Given the description of an element on the screen output the (x, y) to click on. 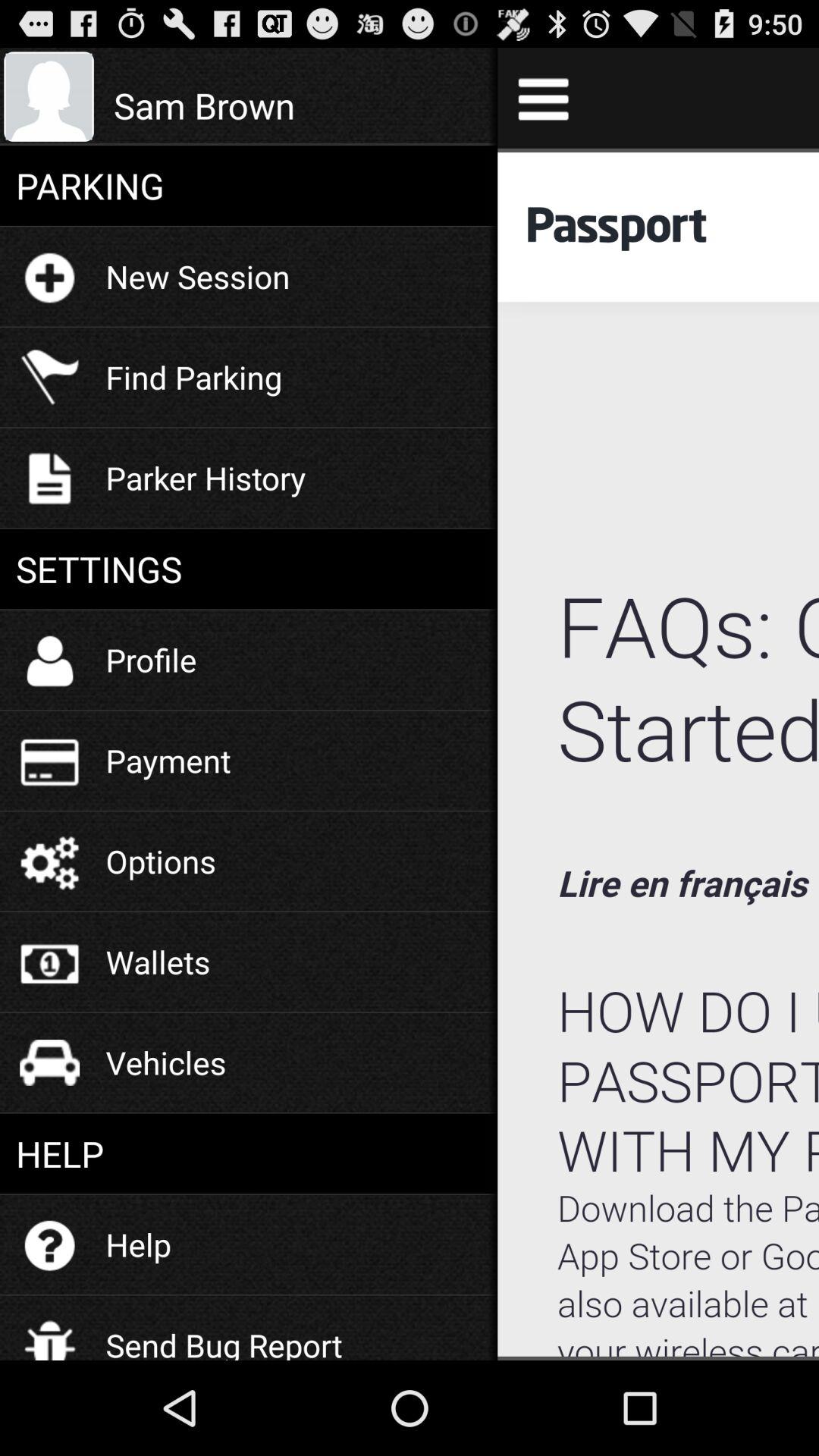
tap the parker history item (205, 477)
